Given the description of an element on the screen output the (x, y) to click on. 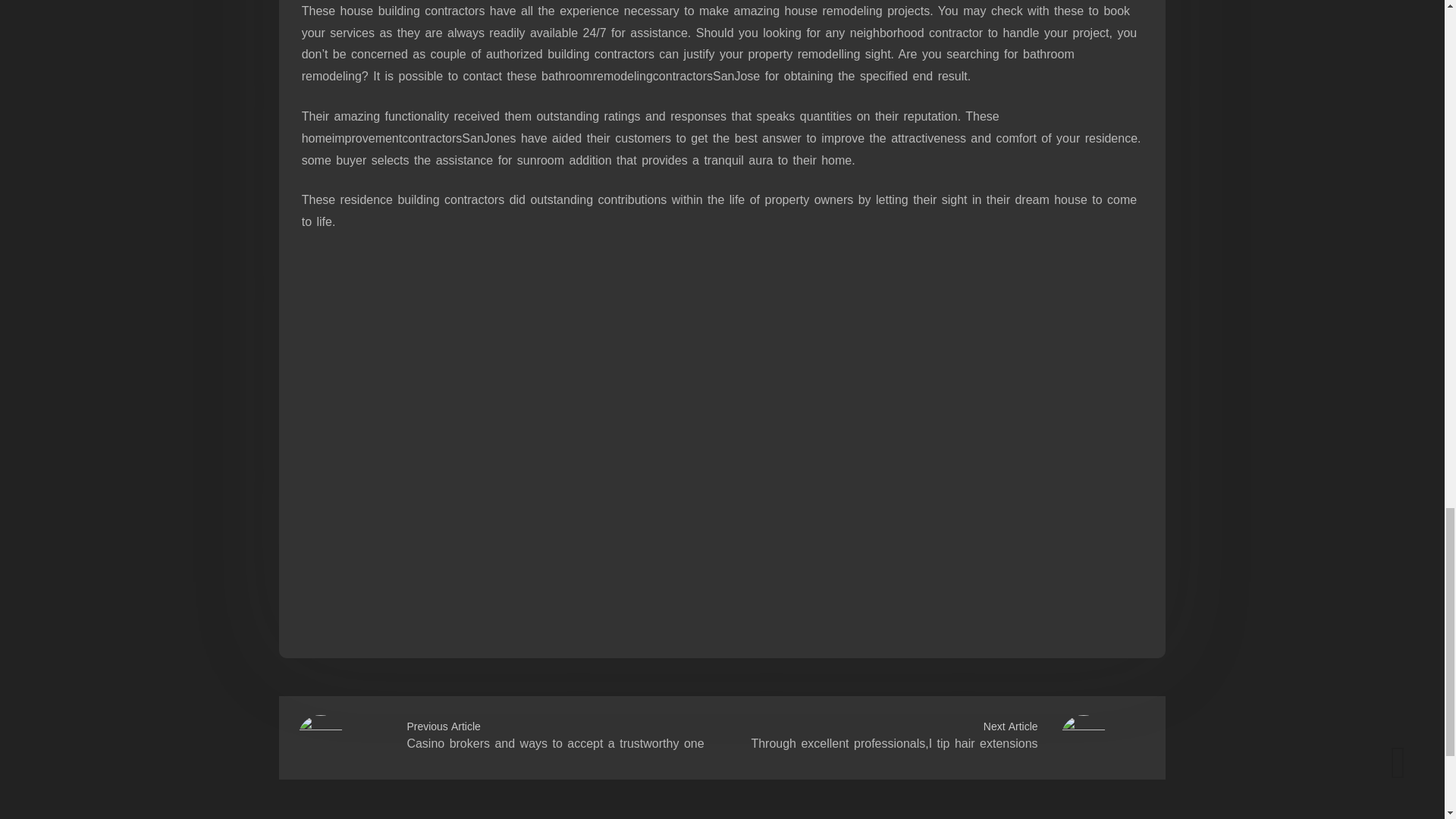
Through excellent professionals,I tip hair extensions (893, 743)
Casino brokers and ways to accept a trustworthy one (554, 743)
